Given the description of an element on the screen output the (x, y) to click on. 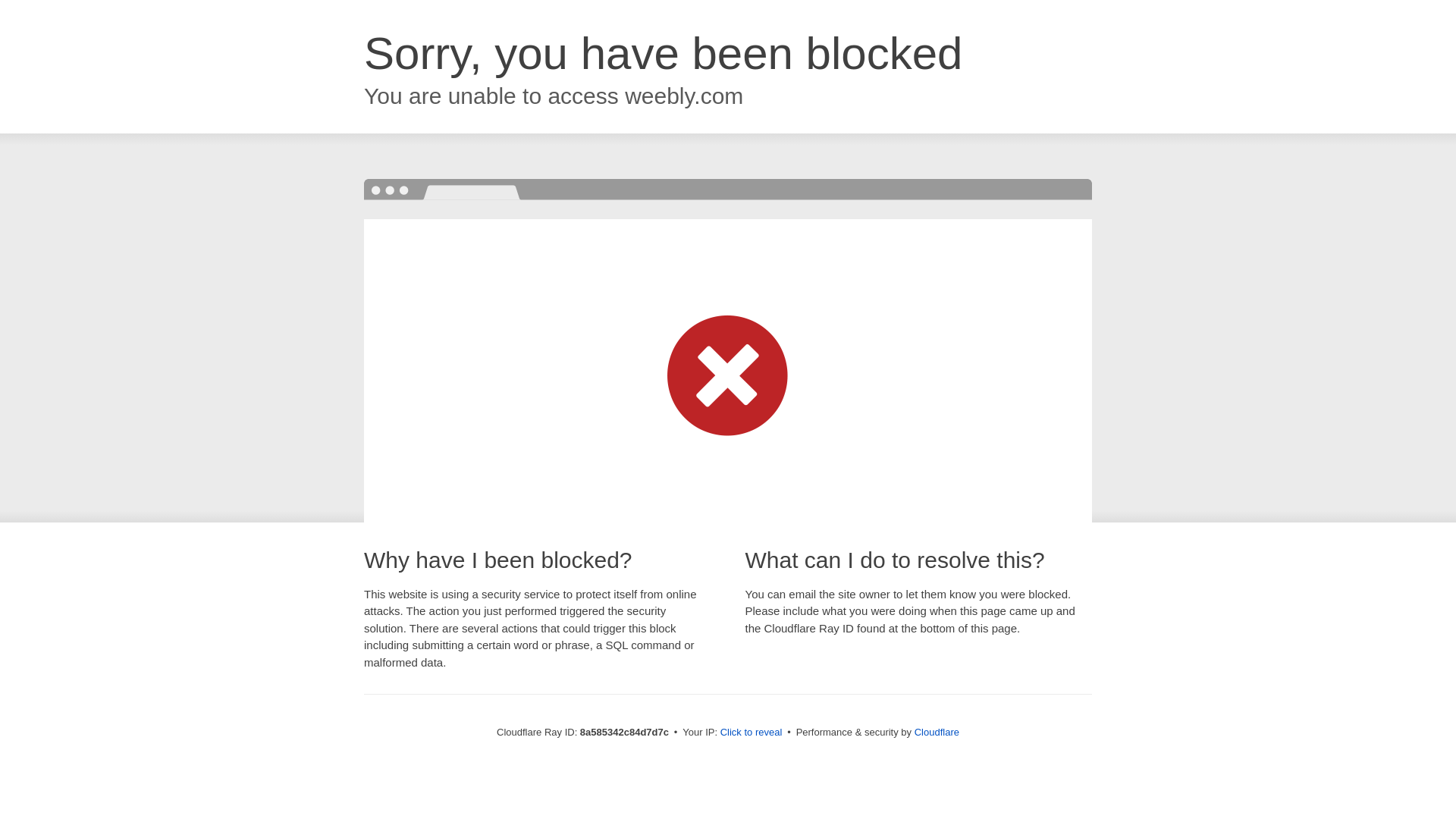
Cloudflare (936, 731)
Click to reveal (751, 732)
